Given the description of an element on the screen output the (x, y) to click on. 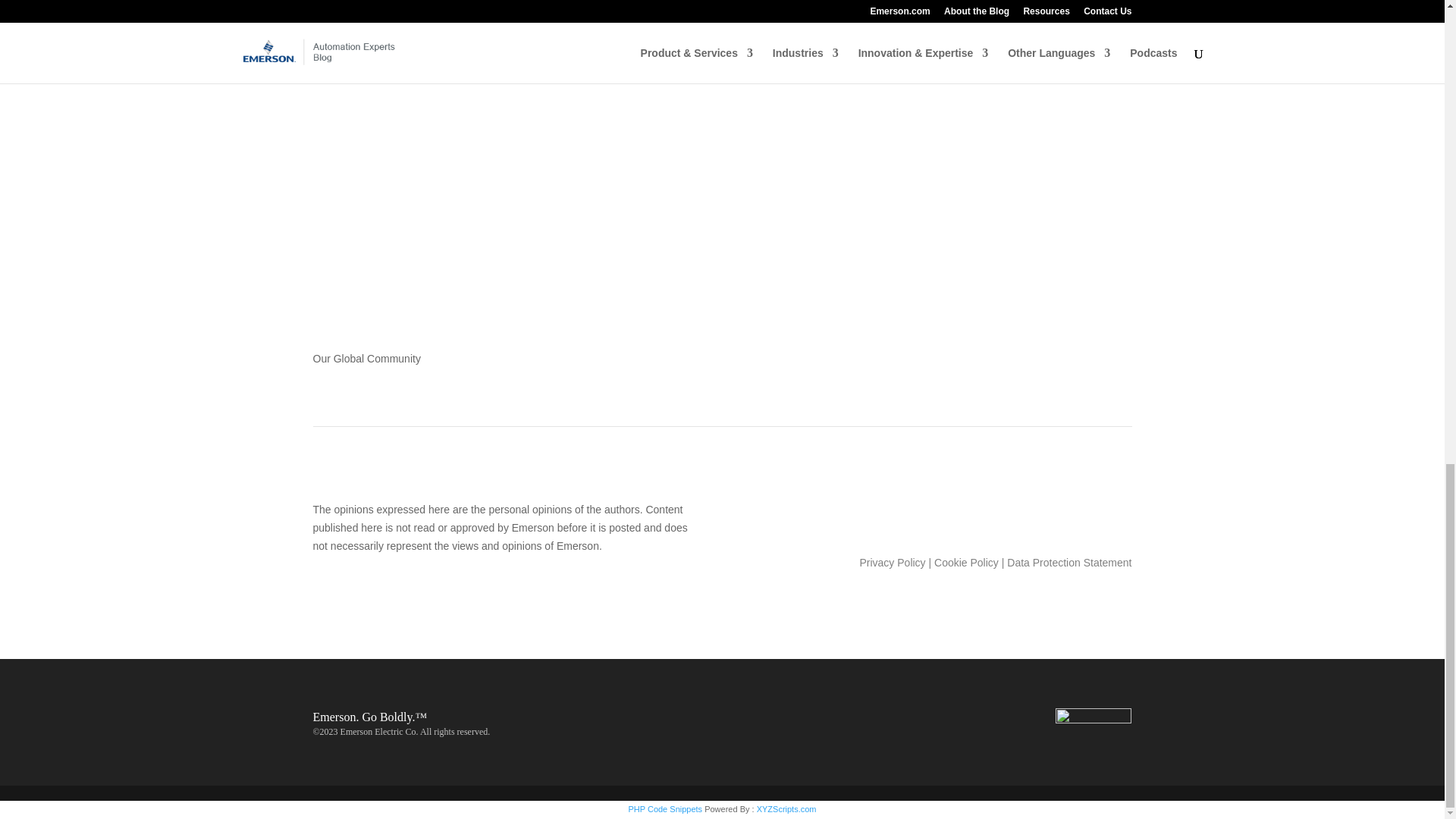
Follow on LinkedIn (1058, 513)
Insert PHP Snippet Wordpress Plugin (664, 809)
Follow on X (1088, 513)
Follow on Facebook (1028, 513)
Follow on X (737, 7)
Follow on Facebook (675, 7)
Follow on Youtube (766, 7)
Follow on LinkedIn (706, 7)
Follow on Youtube (1118, 513)
